Given the description of an element on the screen output the (x, y) to click on. 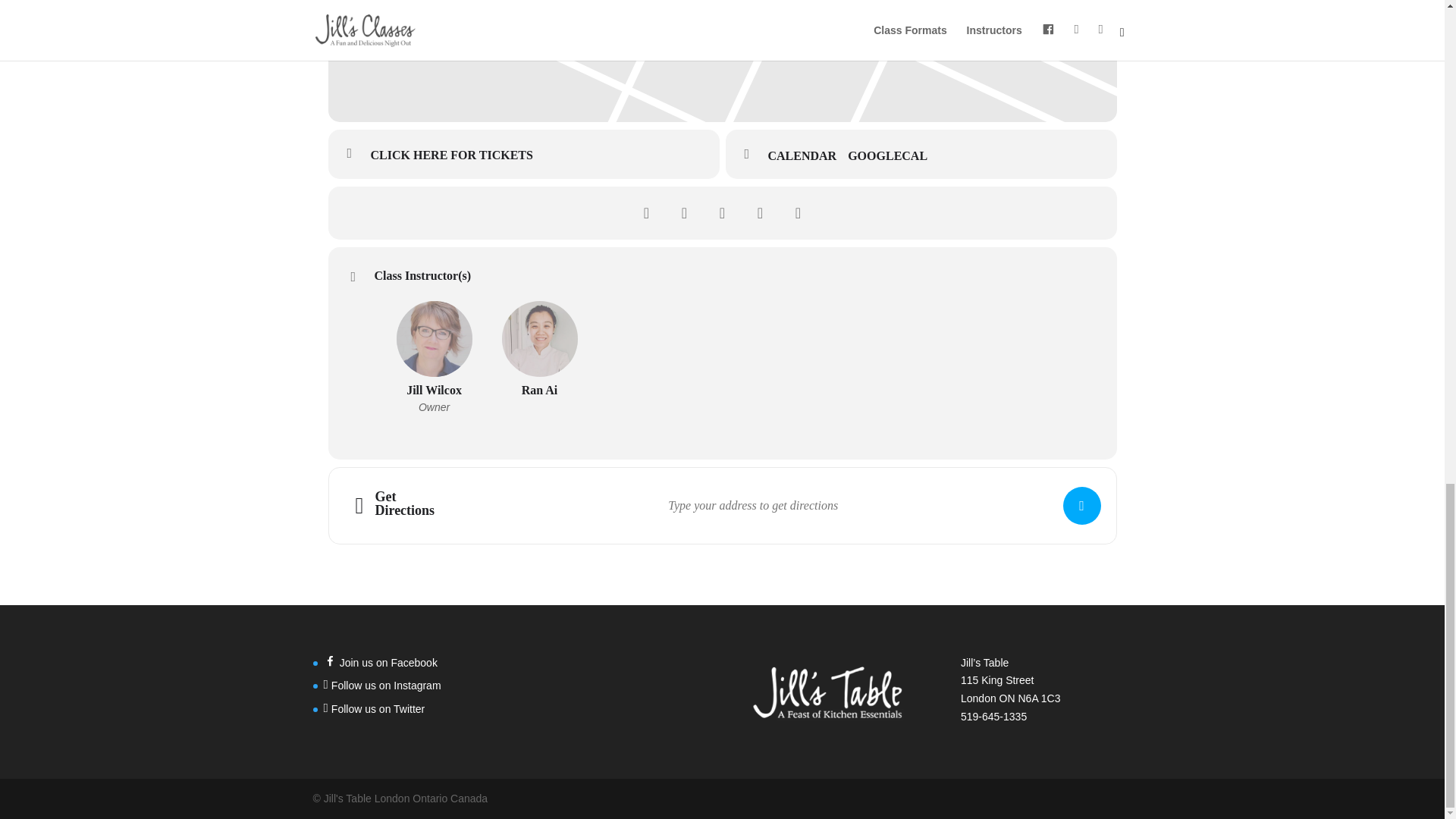
Join us on Facebook (379, 662)
Click here to get directions (1081, 505)
Share on Pinterest (759, 212)
Copy Link (797, 212)
Add to your calendar (807, 155)
CLICK HERE FOR TICKETS (523, 153)
Add to google calendar (893, 155)
Share on facebook (646, 212)
Share on Twitter (684, 212)
GOOGLECAL (893, 155)
